Given the description of an element on the screen output the (x, y) to click on. 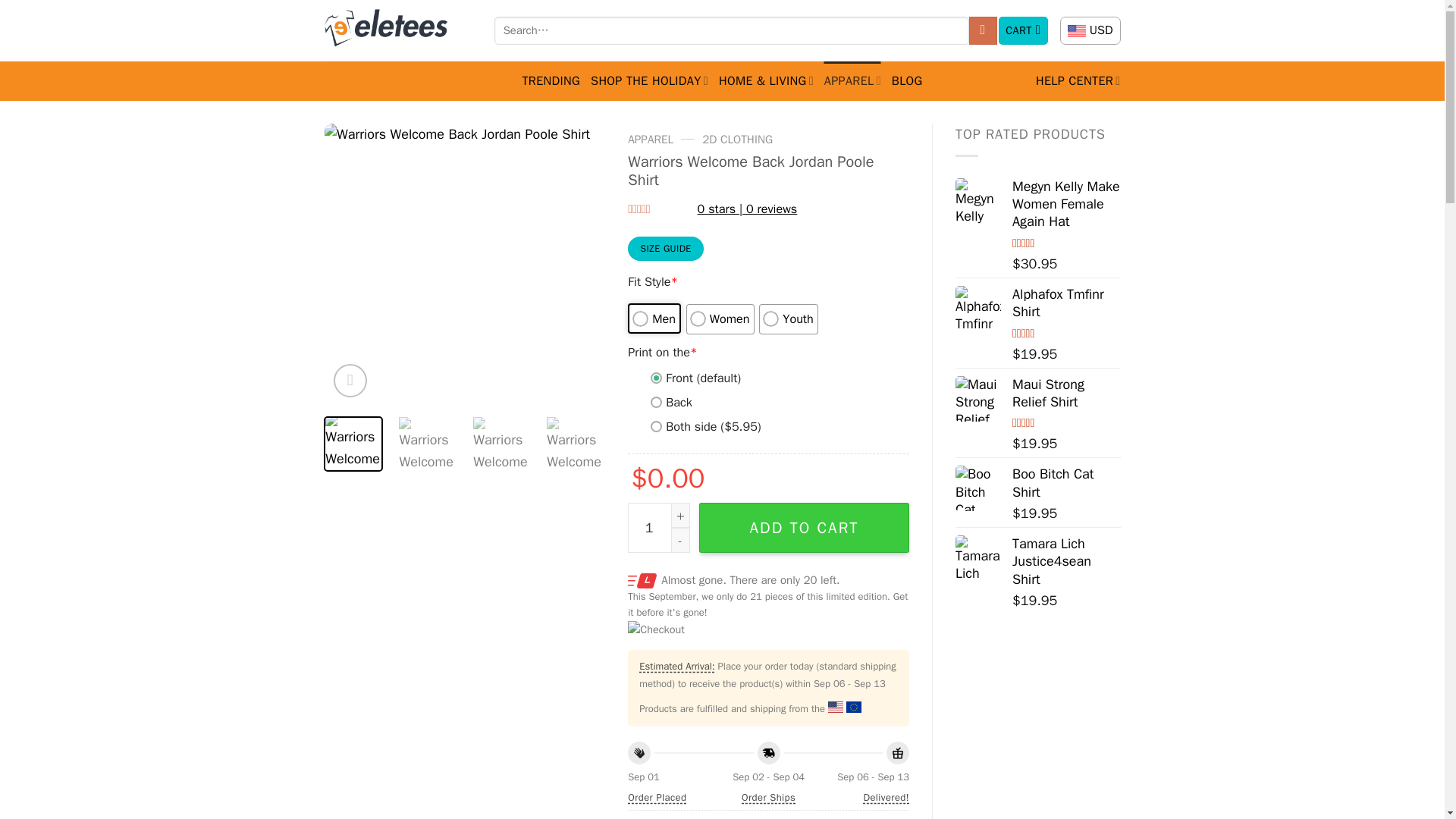
Search (983, 30)
Tamara Lich Justice4sean Shirt (978, 557)
APPAREL (852, 80)
CART (1023, 30)
Maui Strong Relief Shirt (978, 398)
Megyn Kelly Make Women Female Again Hat (1066, 204)
1 (658, 527)
Warriors Welcome Back Jordan Poole Shirt (1026, 263)
Warriors Welcome Back Jordan Poole Shirt (464, 263)
Cart (1023, 30)
